Given the description of an element on the screen output the (x, y) to click on. 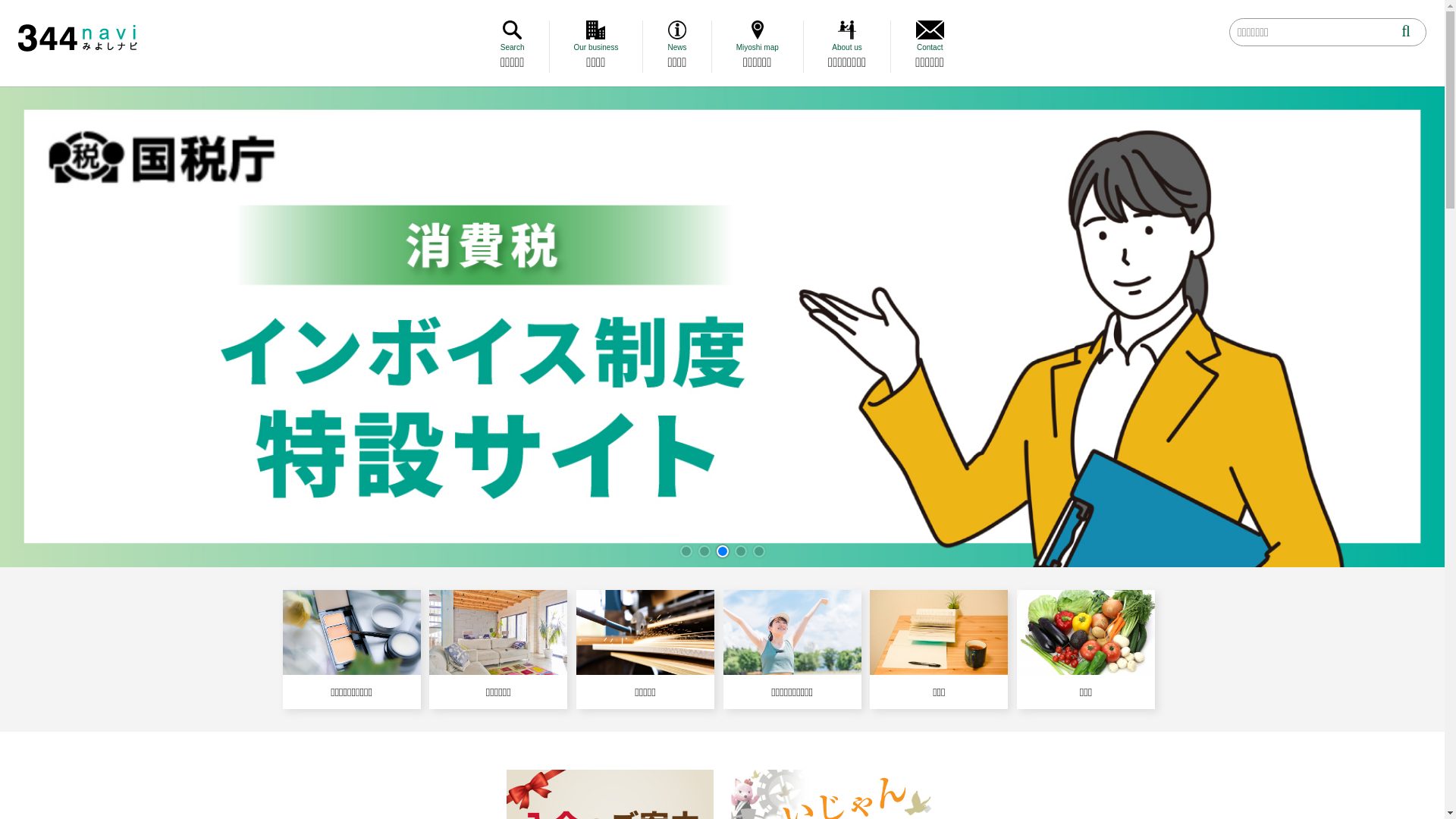
344 Navi Element type: text (77, 37)
